Given the description of an element on the screen output the (x, y) to click on. 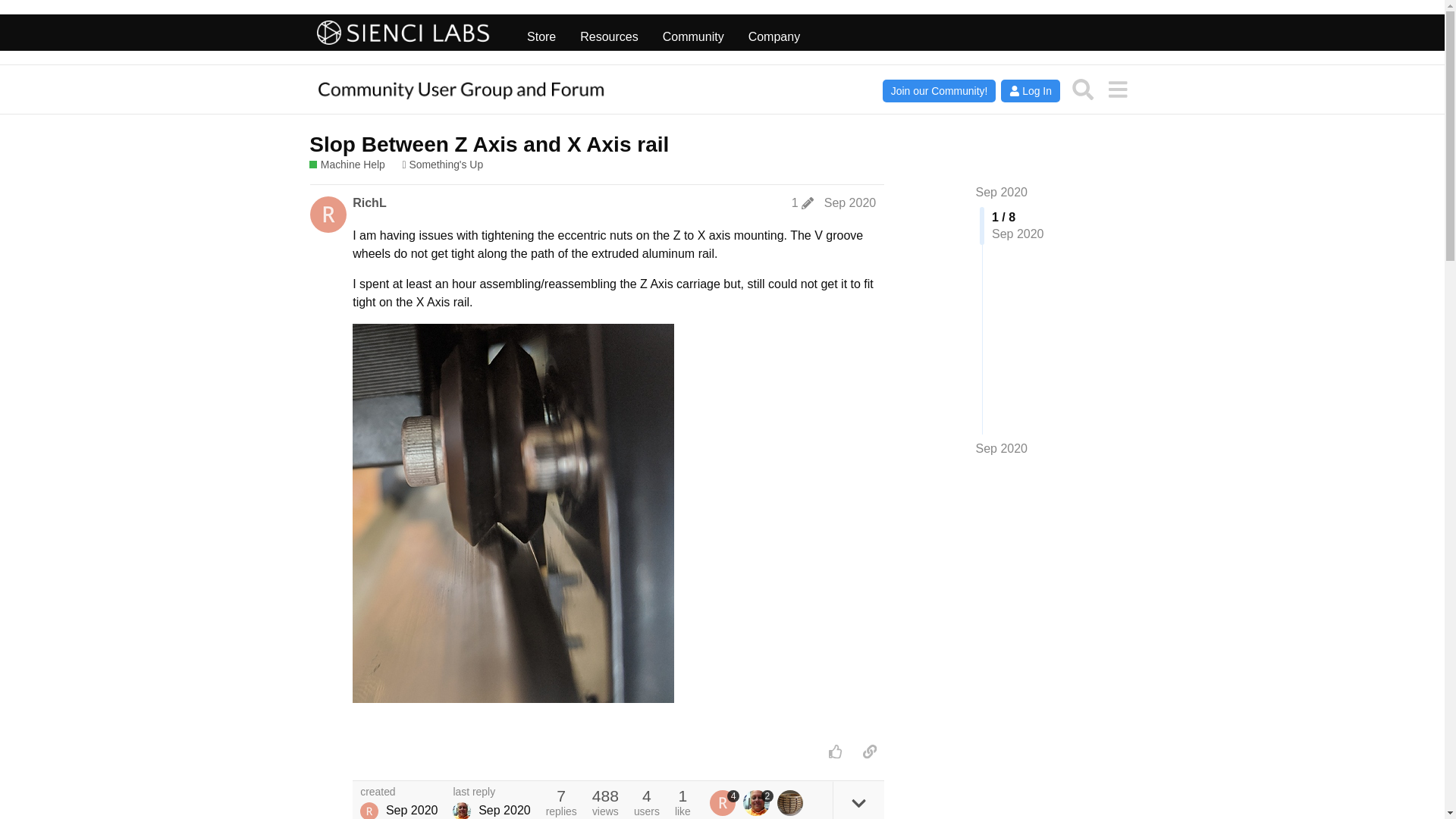
Store (541, 32)
Sep 2020 (1001, 192)
Jump to the first post (1001, 192)
Search (1082, 89)
Machine Help (346, 164)
copy a link to this post to clipboard (869, 751)
1 (802, 202)
post last edited on Aug 27, 2021 2:02 am (802, 202)
Sienci Labs (403, 32)
Community (692, 32)
Jump to the last post (1001, 448)
Log In (1030, 90)
2 (757, 802)
RichL (368, 202)
Sep 2020 (850, 202)
